Given the description of an element on the screen output the (x, y) to click on. 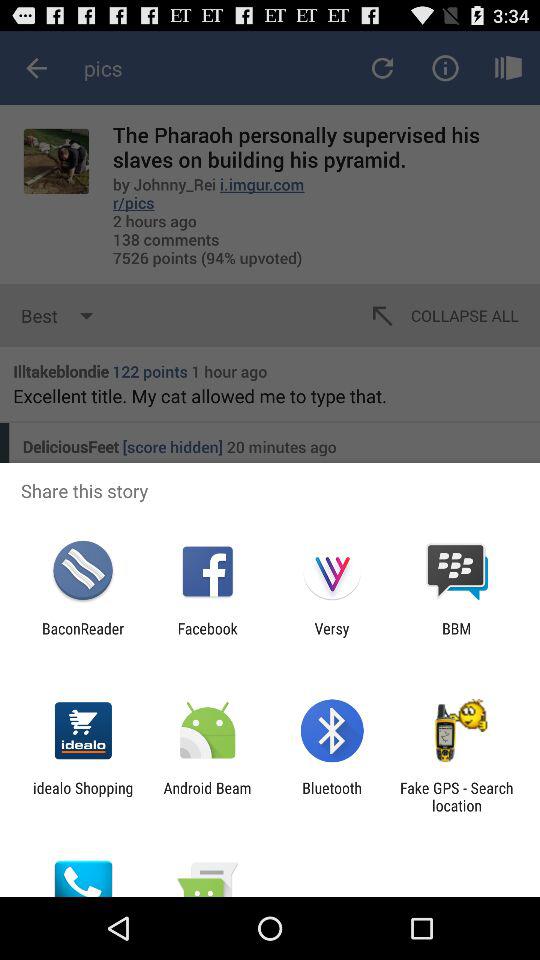
launch the item next to android beam icon (83, 796)
